Given the description of an element on the screen output the (x, y) to click on. 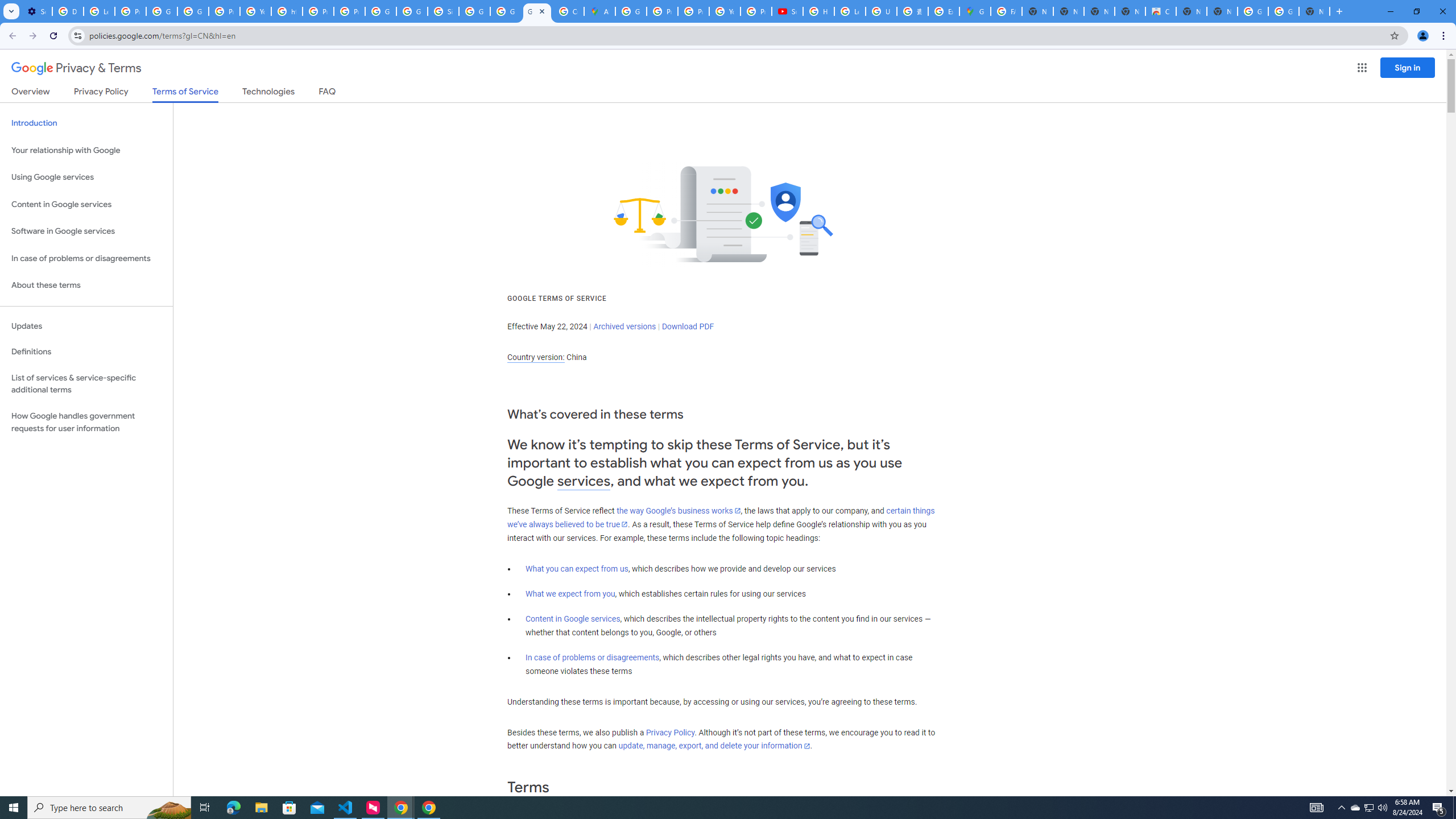
Chrome Web Store (1160, 11)
Your relationship with Google (86, 150)
Google Account Help (161, 11)
Google Maps (974, 11)
Country version: (535, 357)
Delete photos & videos - Computer - Google Photos Help (67, 11)
Subscriptions - YouTube (787, 11)
